Given the description of an element on the screen output the (x, y) to click on. 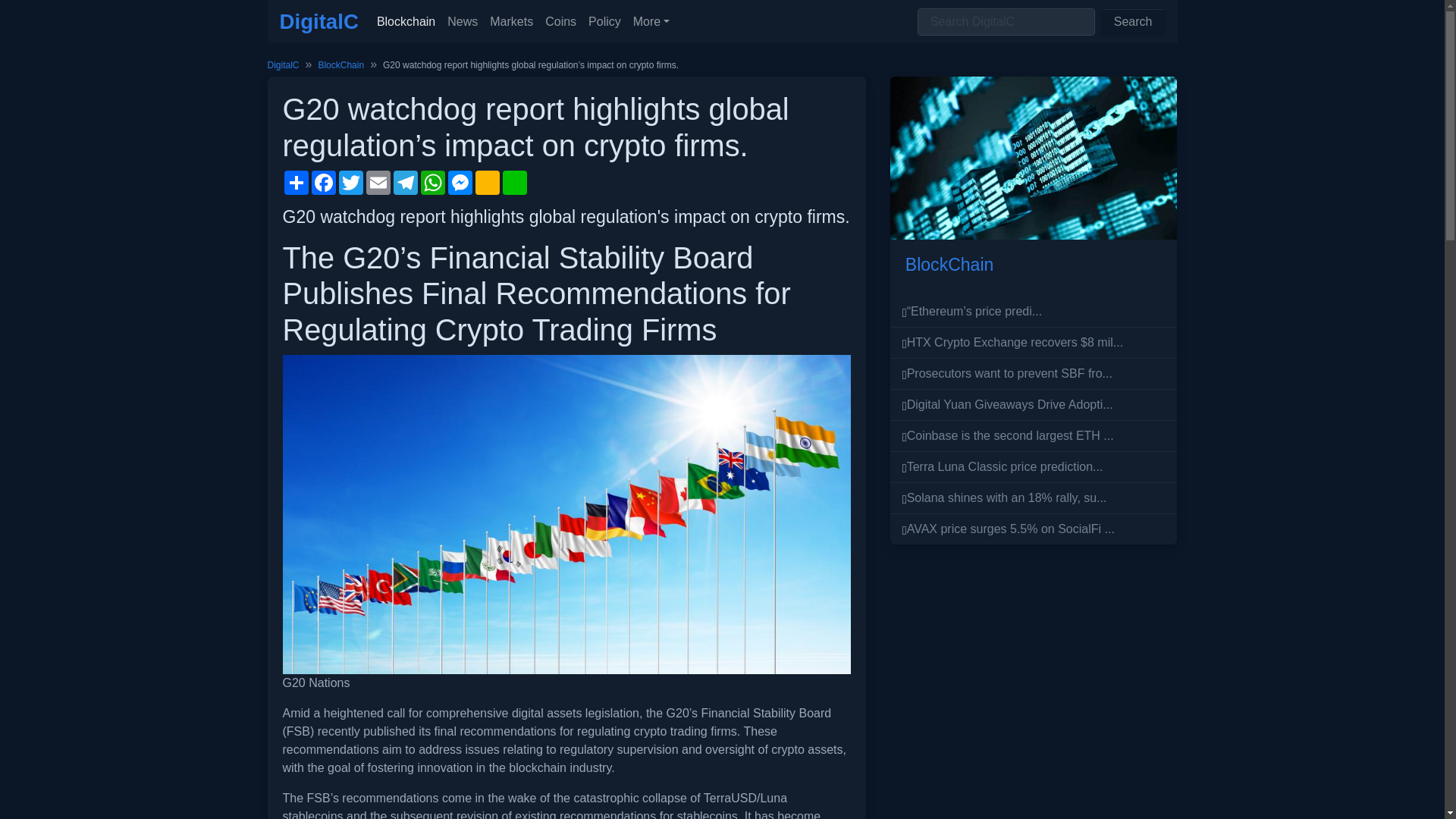
Facebook (322, 182)
Policy (604, 21)
Coins (560, 21)
Email (377, 182)
Twitter (350, 182)
Telegram (405, 182)
Kakao (486, 182)
WhatsApp (432, 182)
DigitalC (318, 20)
Search (1133, 22)
DigitalC (282, 64)
BlockChain (340, 64)
News (462, 21)
More (652, 21)
Markets (510, 21)
